Given the description of an element on the screen output the (x, y) to click on. 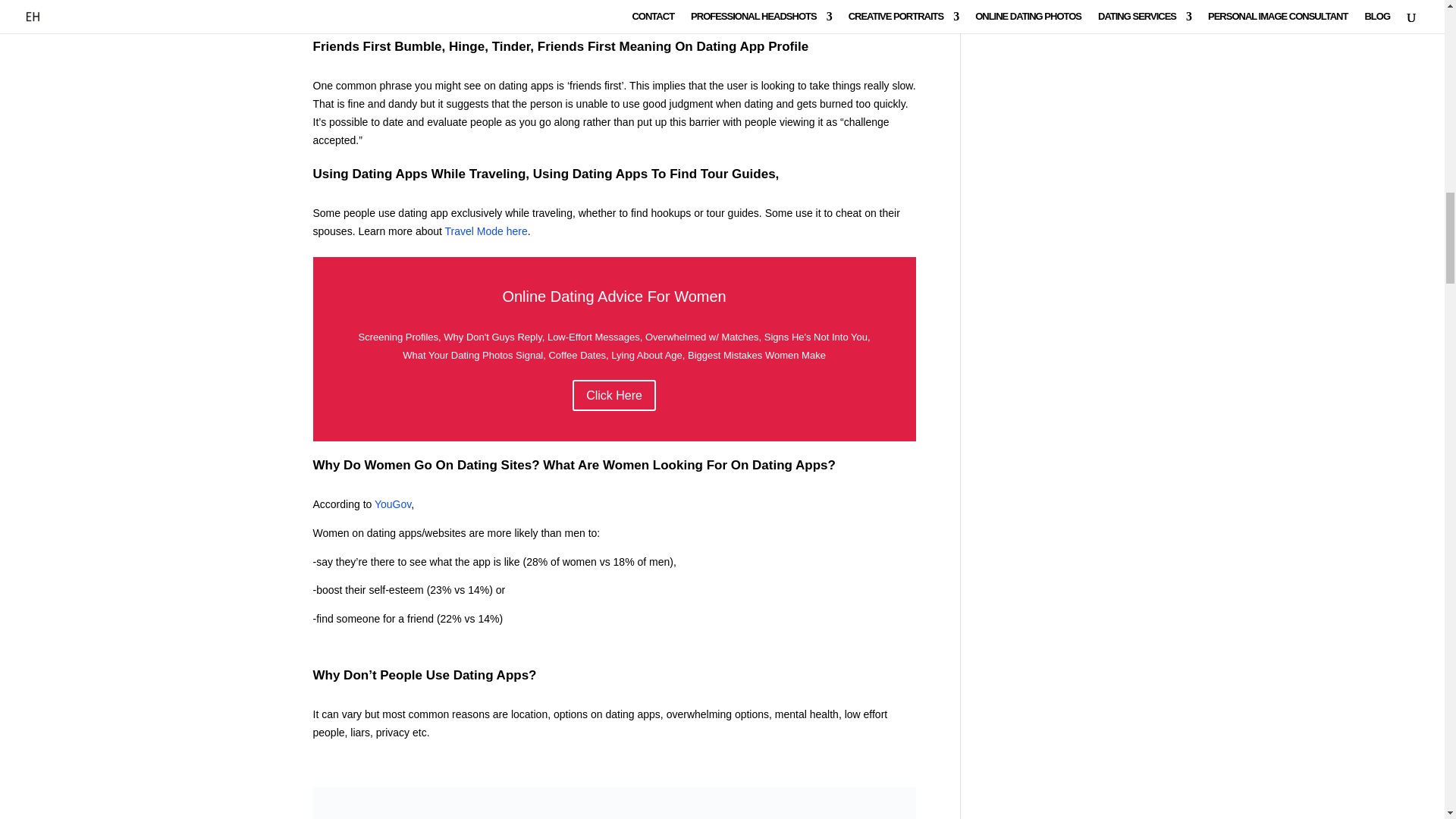
Travel Mode here (486, 231)
Click Here (614, 395)
Bumble-Bio-Example-Female-02 (614, 803)
YouGov (392, 503)
